Given the description of an element on the screen output the (x, y) to click on. 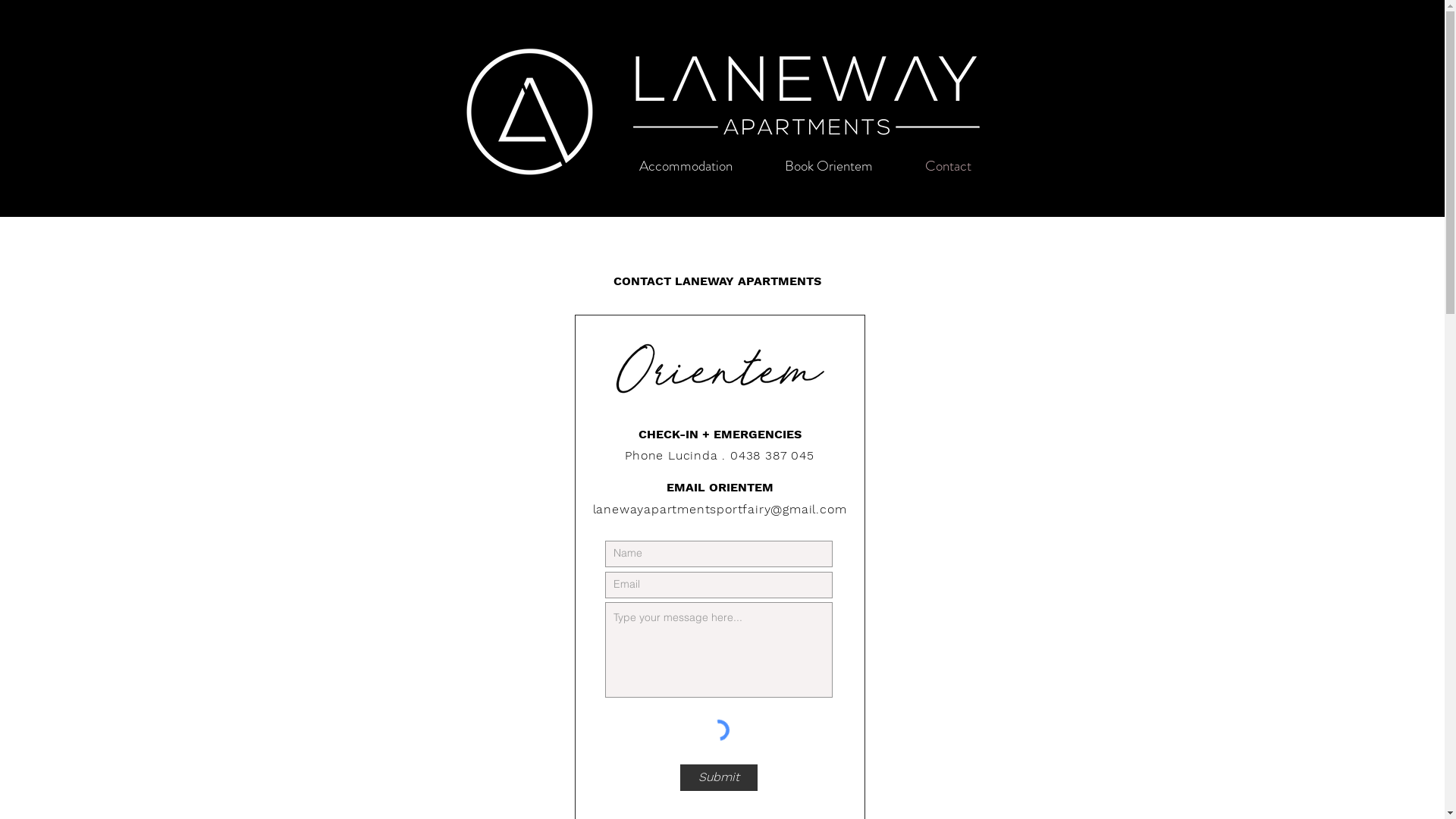
Contact Element type: text (948, 166)
lanewayapartmentsportfairy@gmail.com Element type: text (720, 508)
Submit Element type: text (717, 777)
Book Orientem Element type: text (828, 166)
Accommodation Element type: text (685, 166)
